Given the description of an element on the screen output the (x, y) to click on. 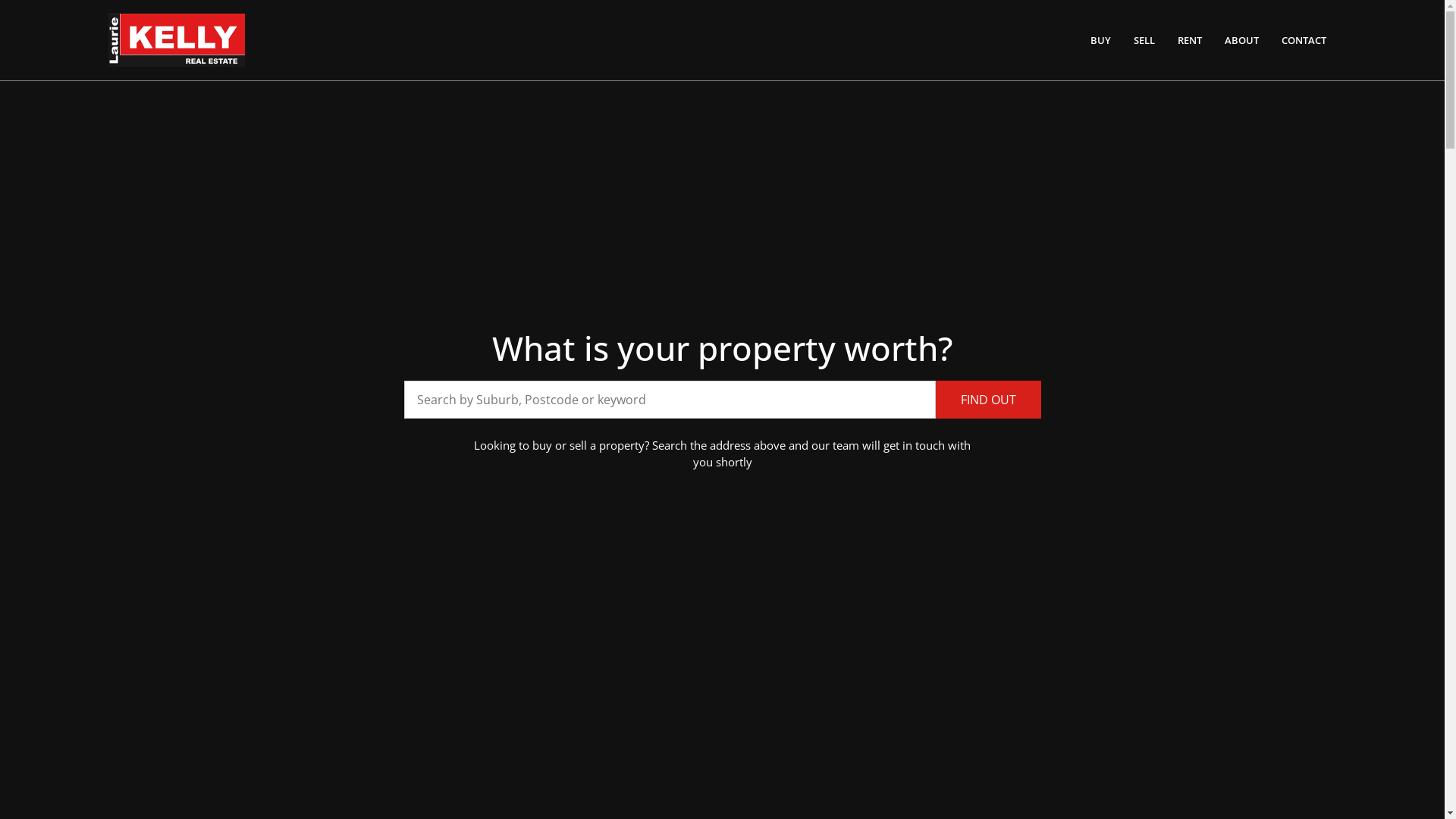
RENT Element type: text (1189, 40)
ABOUT Element type: text (1241, 40)
SELL Element type: text (1143, 40)
FIND OUT Element type: text (988, 399)
CONTACT Element type: text (1303, 40)
BUY Element type: text (1100, 40)
